Given the description of an element on the screen output the (x, y) to click on. 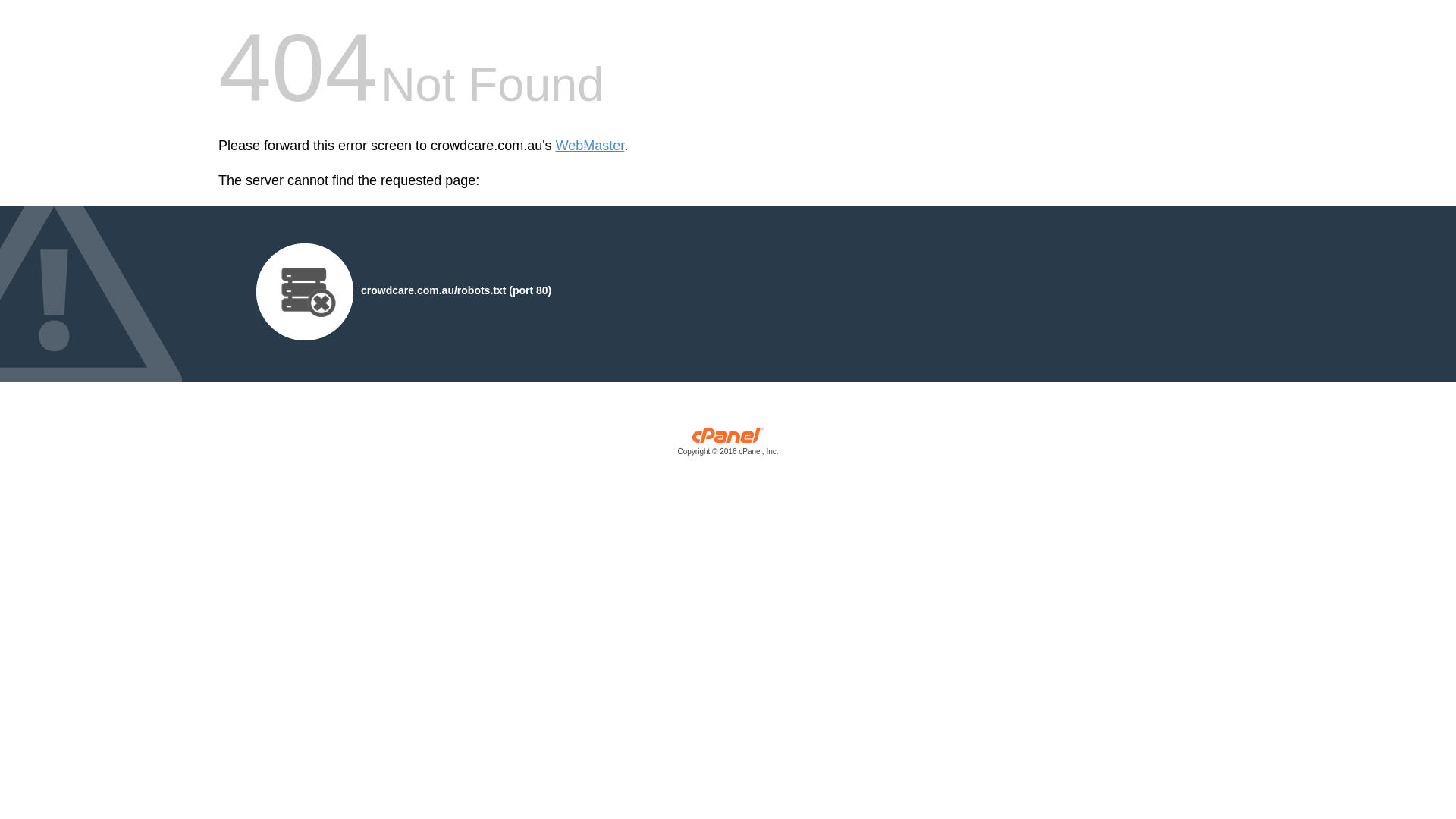
WebMaster Element type: text (589, 145)
